Given the description of an element on the screen output the (x, y) to click on. 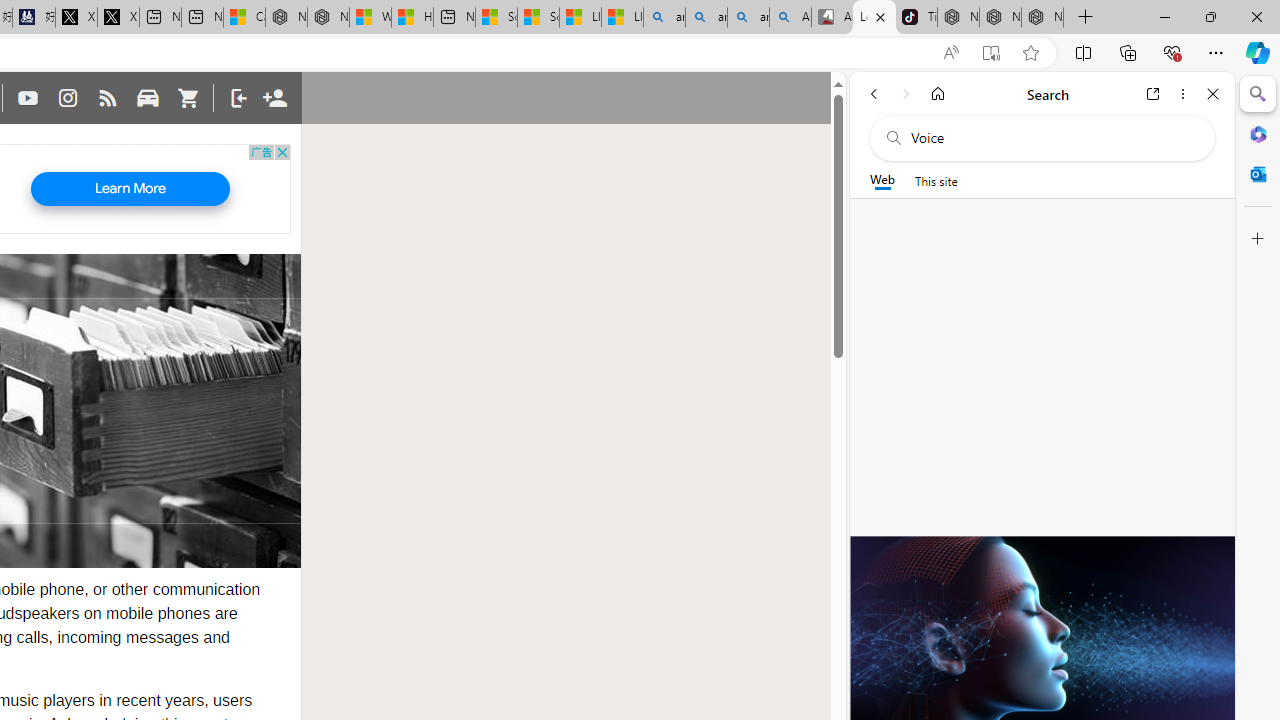
Search the web (1051, 137)
